Given the description of an element on the screen output the (x, y) to click on. 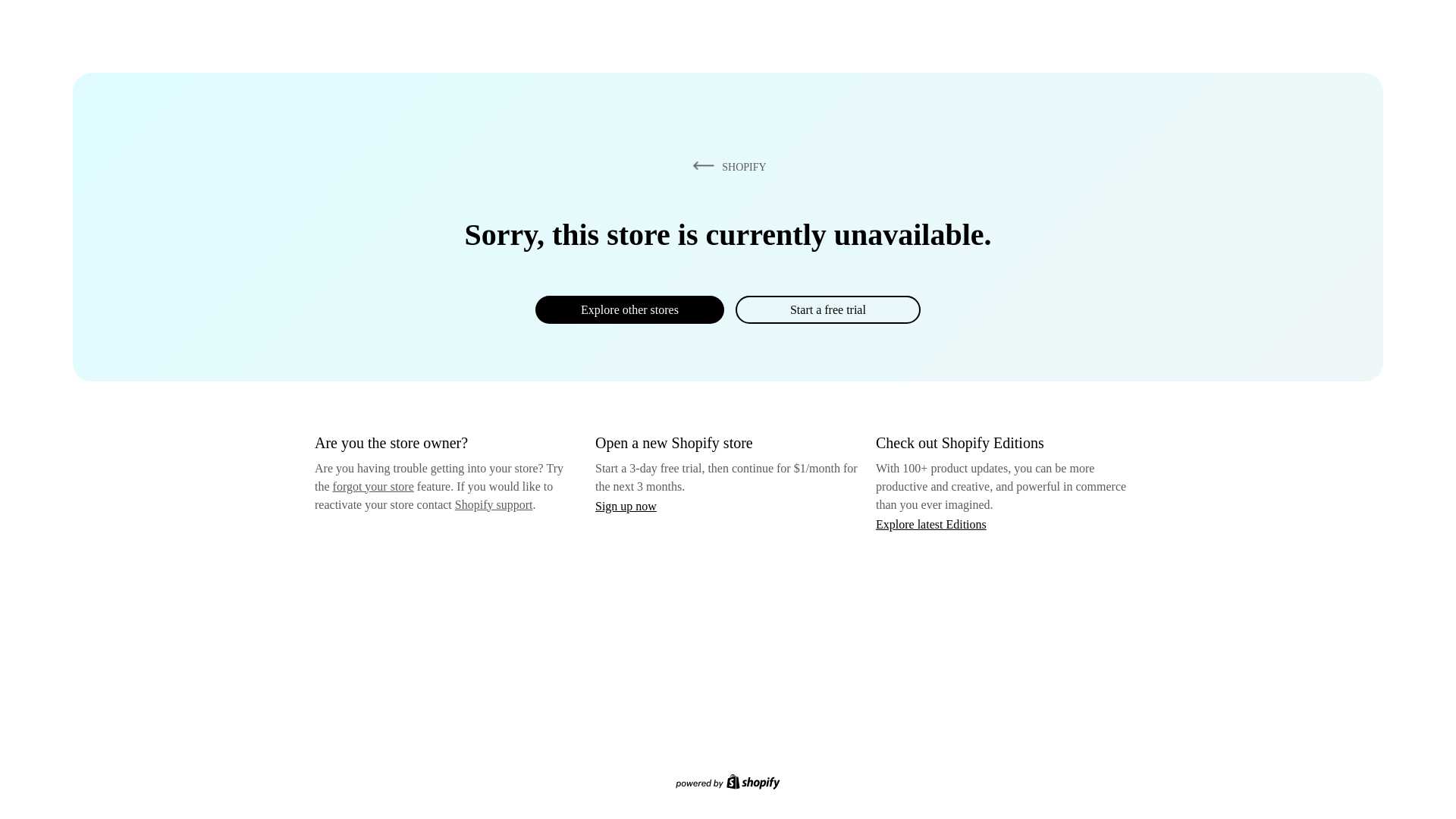
Start a free trial (827, 309)
SHOPIFY (726, 166)
Sign up now (625, 505)
forgot your store (373, 486)
Explore other stores (629, 309)
Explore latest Editions (931, 523)
Shopify support (493, 504)
